Given the description of an element on the screen output the (x, y) to click on. 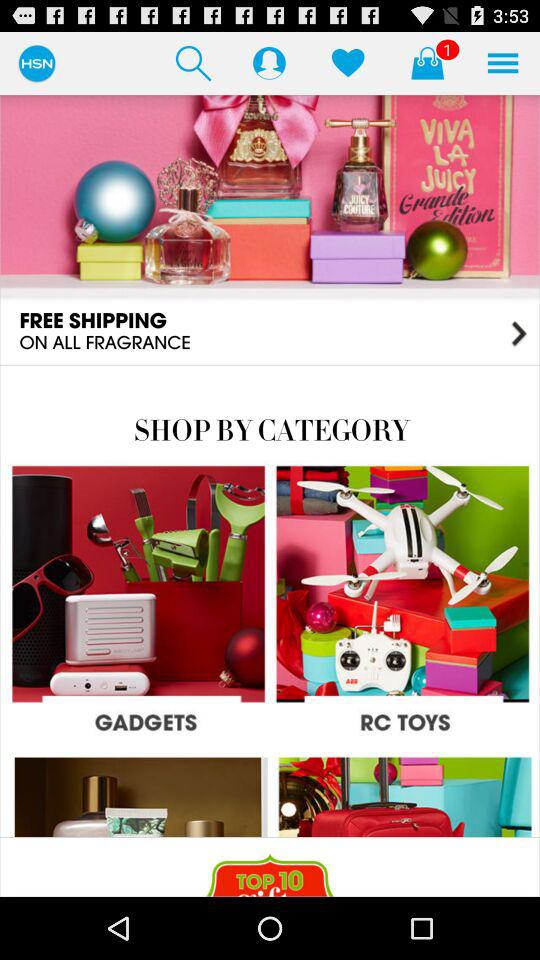
open shopping cart (427, 62)
